Given the description of an element on the screen output the (x, y) to click on. 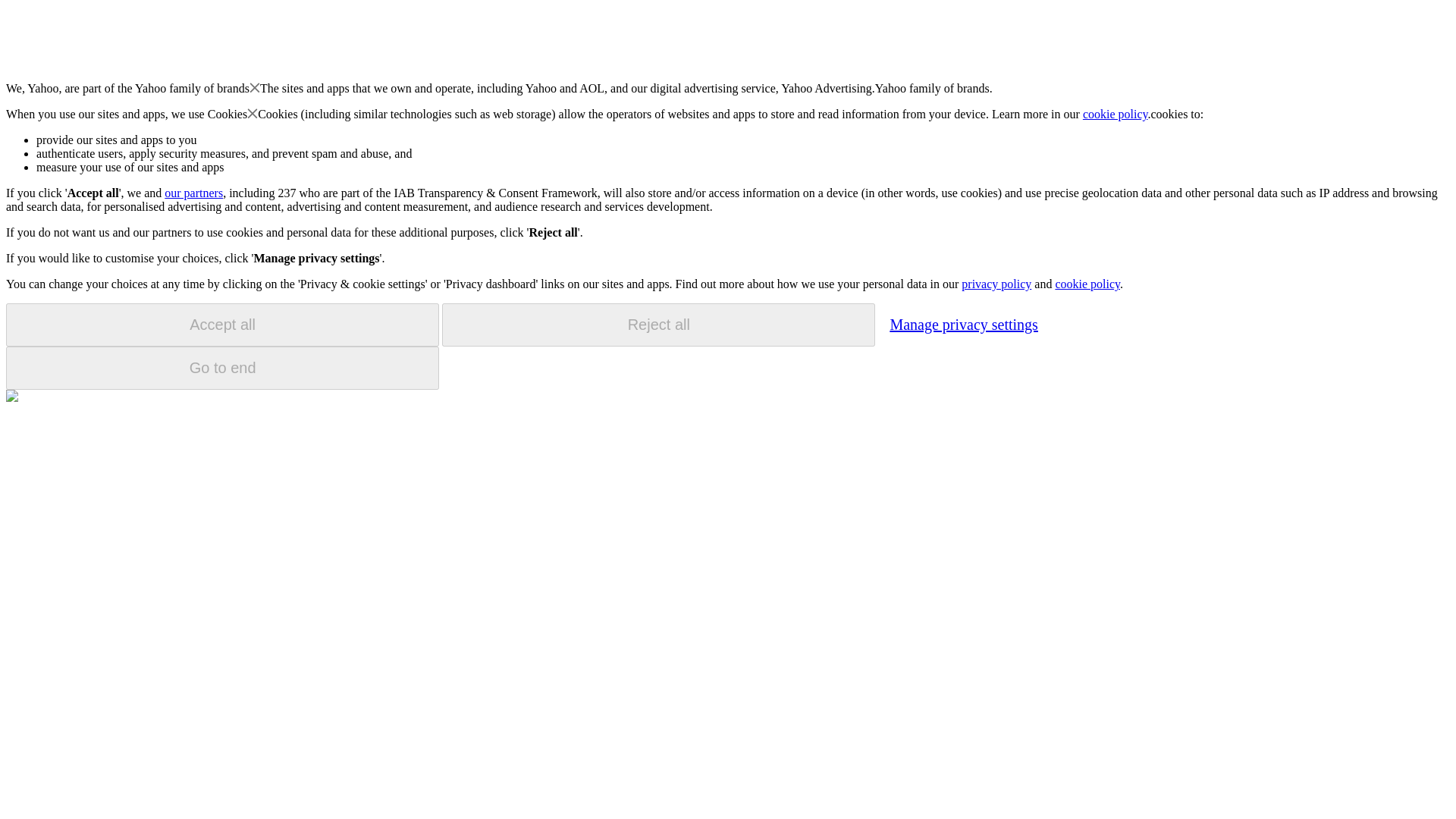
Reject all (658, 324)
Go to end (222, 367)
Manage privacy settings (963, 323)
Accept all (222, 324)
privacy policy (995, 283)
cookie policy (1115, 113)
cookie policy (1086, 283)
our partners (193, 192)
